Given the description of an element on the screen output the (x, y) to click on. 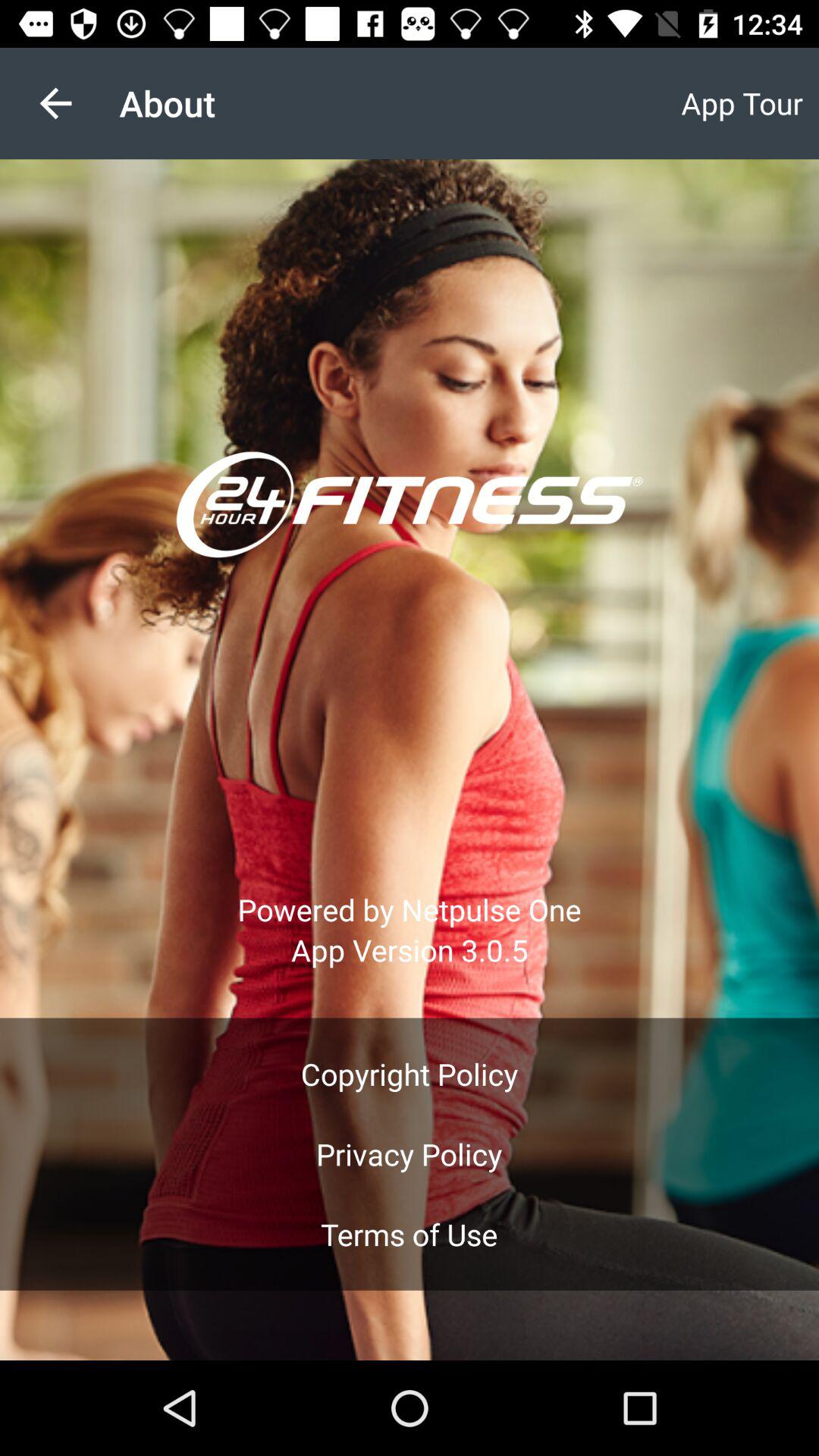
click the icon above privacy policy (409, 1073)
